Given the description of an element on the screen output the (x, y) to click on. 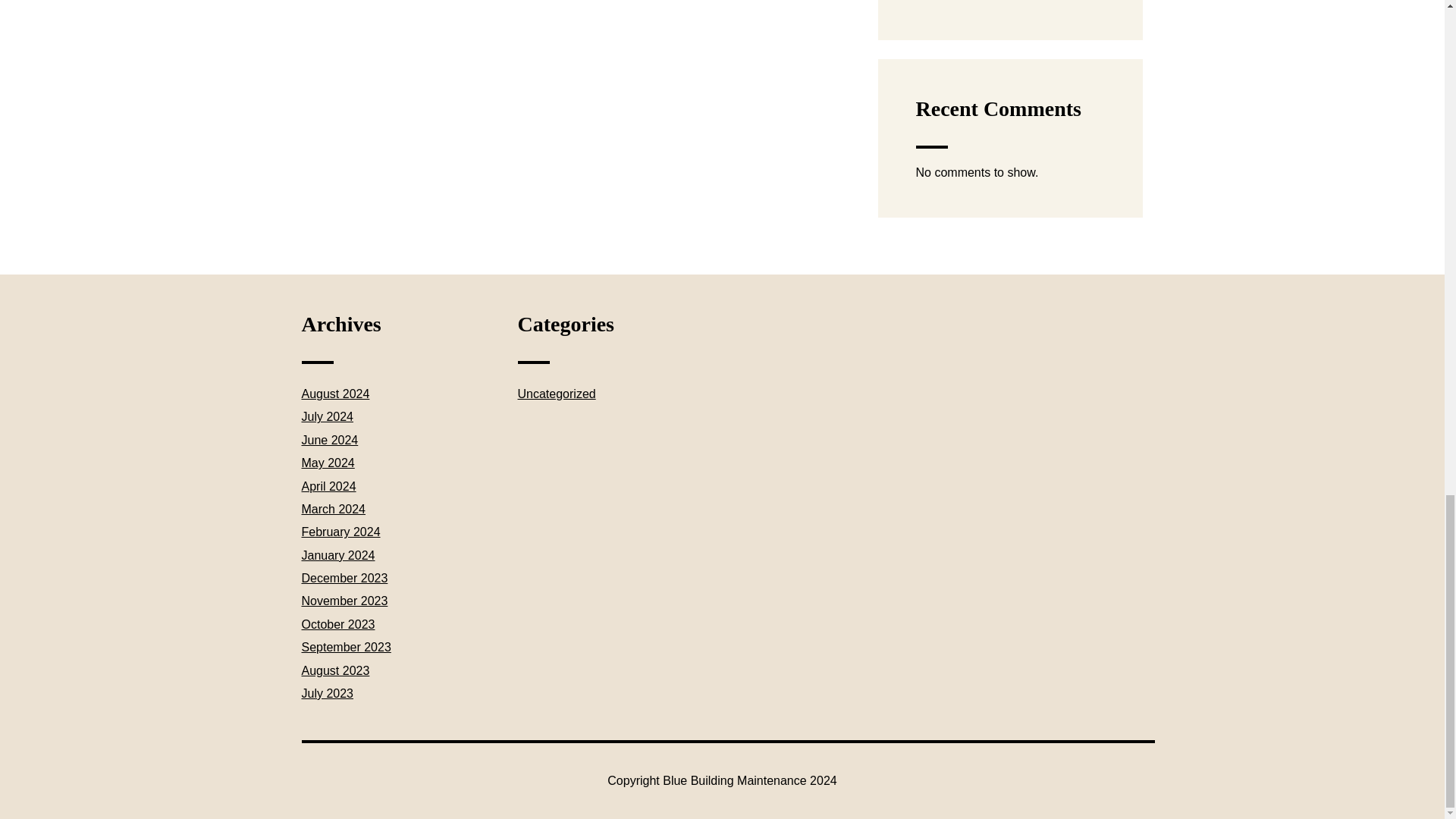
Uncategorized (555, 393)
January 2024 (338, 554)
October 2023 (338, 624)
September 2023 (346, 646)
August 2023 (335, 670)
April 2024 (328, 486)
July 2023 (327, 693)
August 2024 (335, 393)
July 2024 (327, 416)
February 2024 (340, 531)
